Given the description of an element on the screen output the (x, y) to click on. 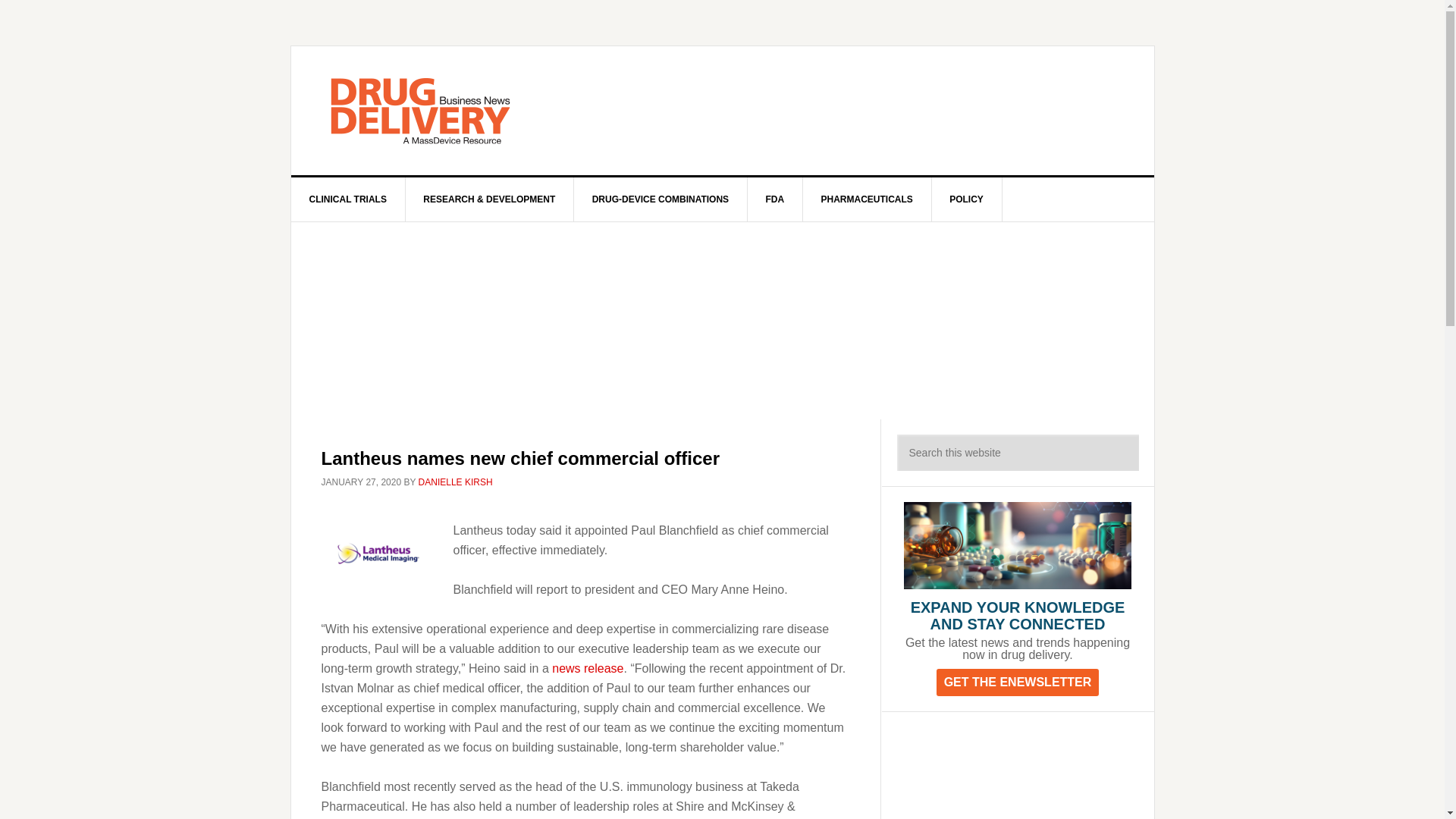
GET THE ENEWSLETTER (1017, 682)
POLICY (967, 199)
DANIELLE KIRSH (456, 481)
3rd party ad content (1010, 773)
news release (587, 667)
GET THE ENEWSLETTER (1017, 681)
FDA (774, 199)
